Given the description of an element on the screen output the (x, y) to click on. 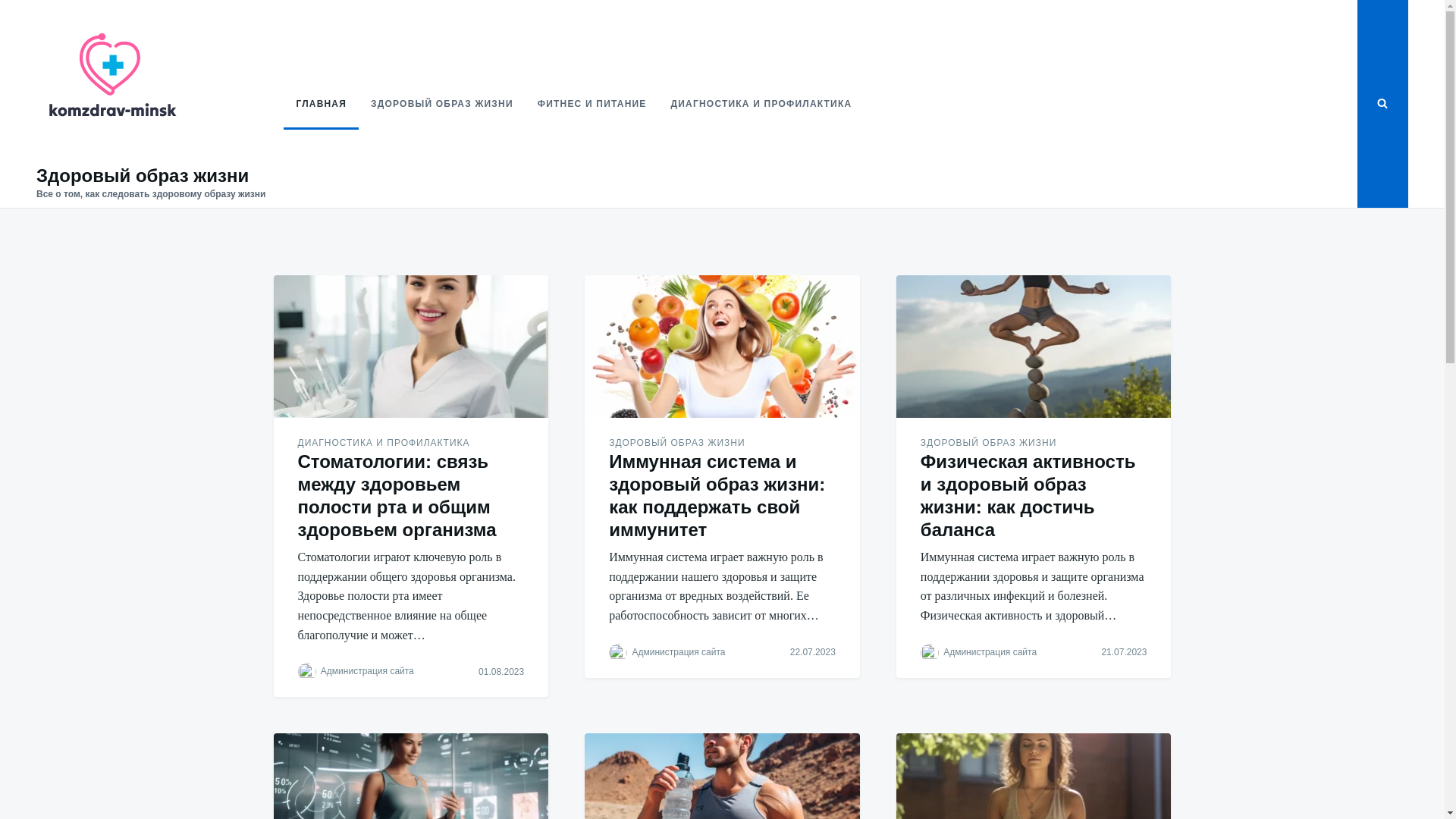
22.07.2023 Element type: text (812, 651)
01.08.2023 Element type: text (501, 671)
21.07.2023 Element type: text (1123, 651)
